Given the description of an element on the screen output the (x, y) to click on. 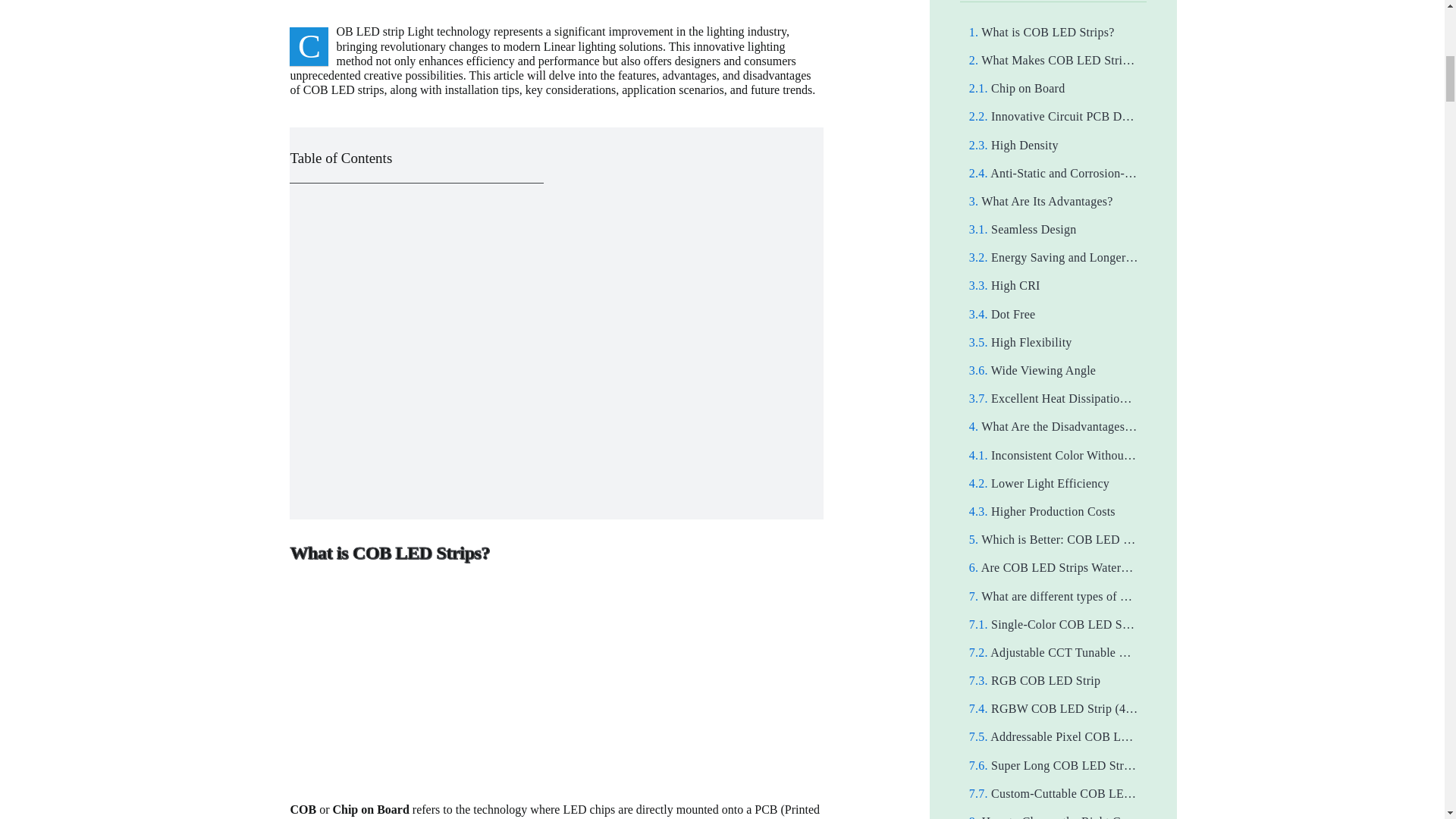
Cob Led (555, 688)
